Given the description of an element on the screen output the (x, y) to click on. 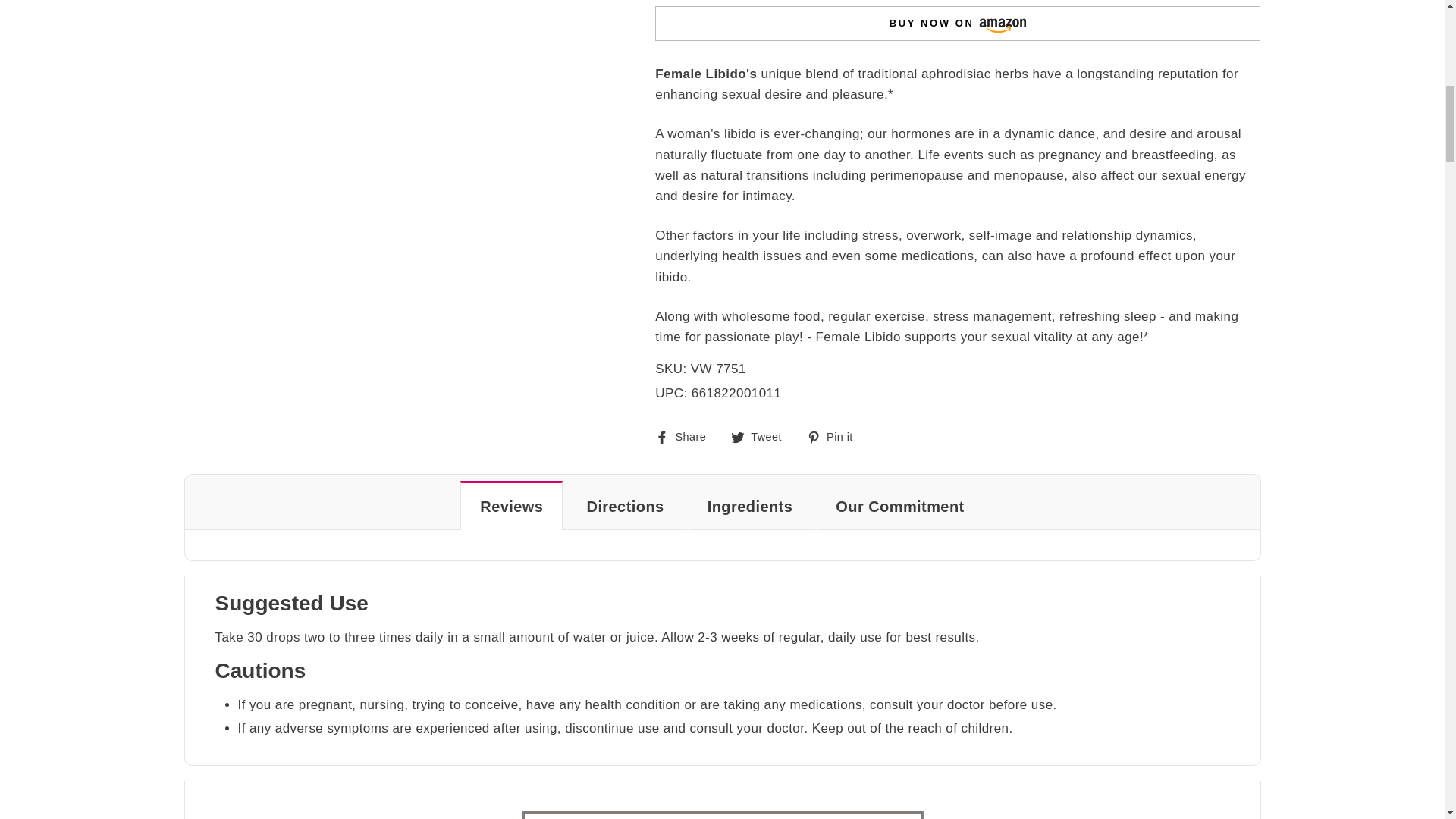
Share on Facebook (686, 435)
Tweet on Twitter (761, 435)
Pin on Pinterest (835, 435)
